Given the description of an element on the screen output the (x, y) to click on. 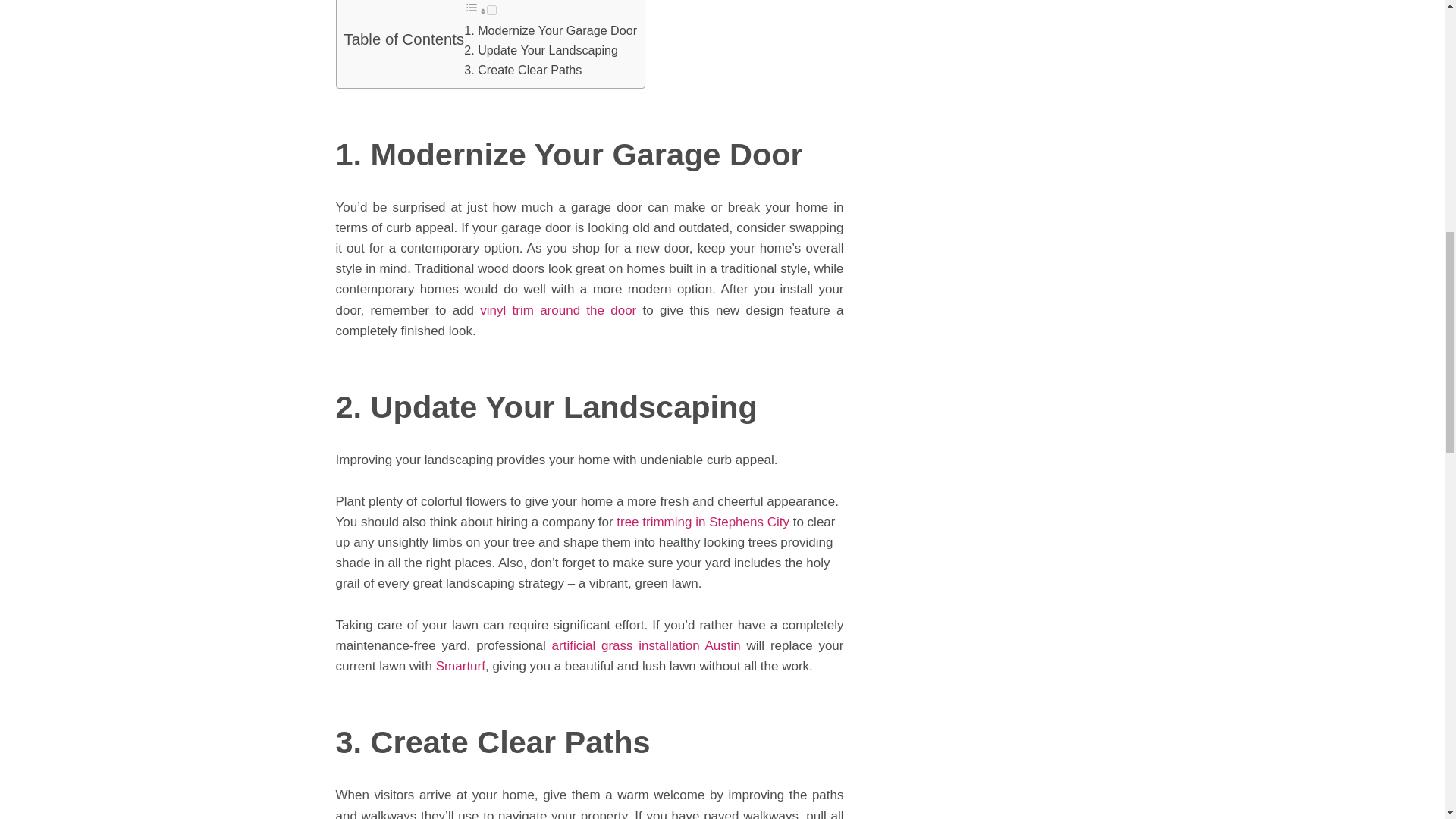
tree trimming in Stephens City (702, 522)
vinyl trim around the door (558, 310)
1. Modernize Your Garage Door (550, 29)
3. Create Clear Paths (522, 69)
2. Update Your Landscaping (540, 49)
3. Create Clear Paths (522, 69)
2. Update Your Landscaping (540, 49)
artificial grass installation Austin (646, 645)
1. Modernize Your Garage Door (550, 29)
on (491, 9)
